Given the description of an element on the screen output the (x, y) to click on. 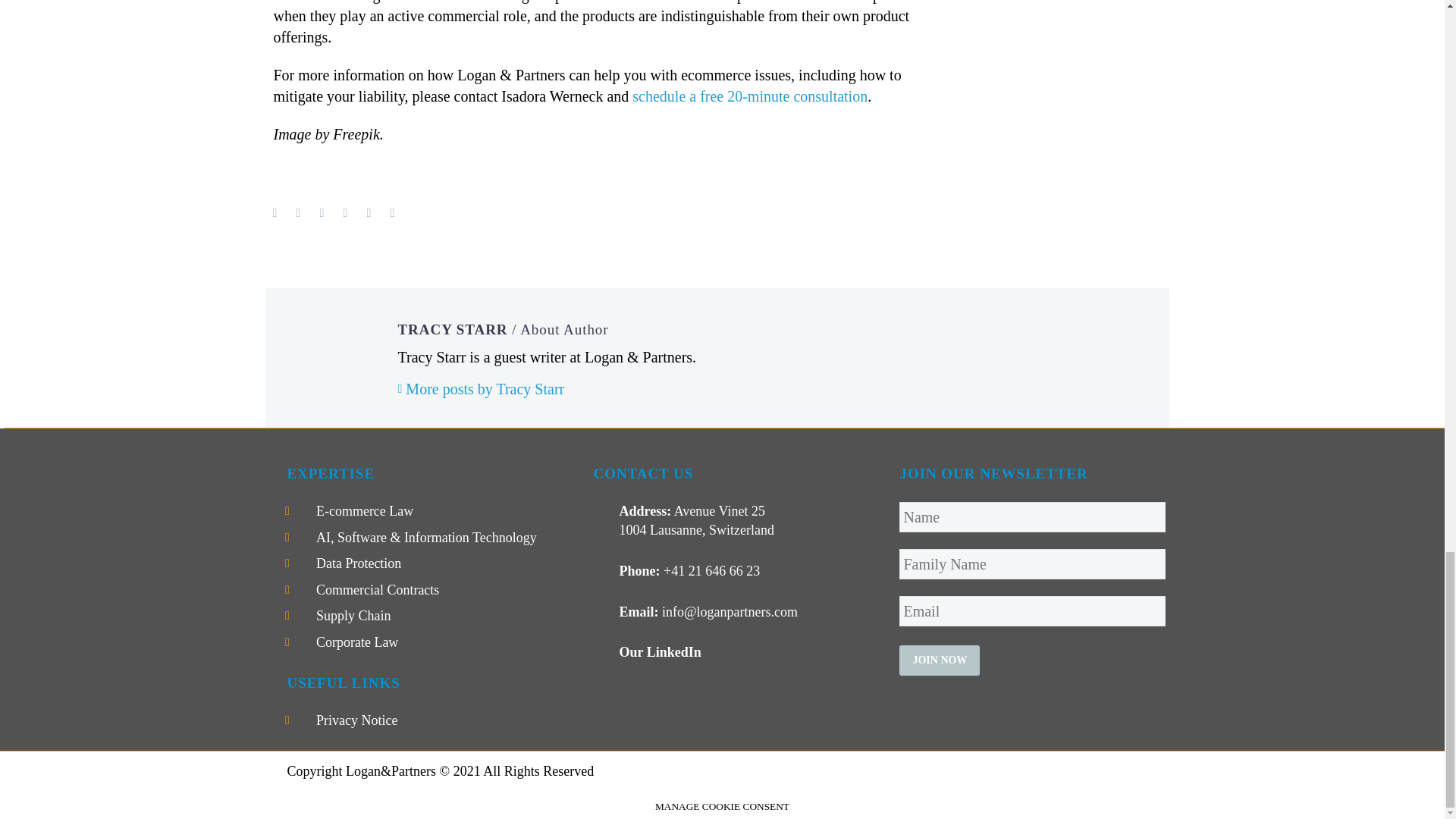
Facebook (274, 213)
schedule a free 20-minute consultation (749, 95)
Tumblr (345, 213)
Reddit (392, 213)
LinkedIn (368, 213)
More posts by Tracy Starr (480, 388)
Pinterest (321, 213)
Twitter (298, 213)
